Given the description of an element on the screen output the (x, y) to click on. 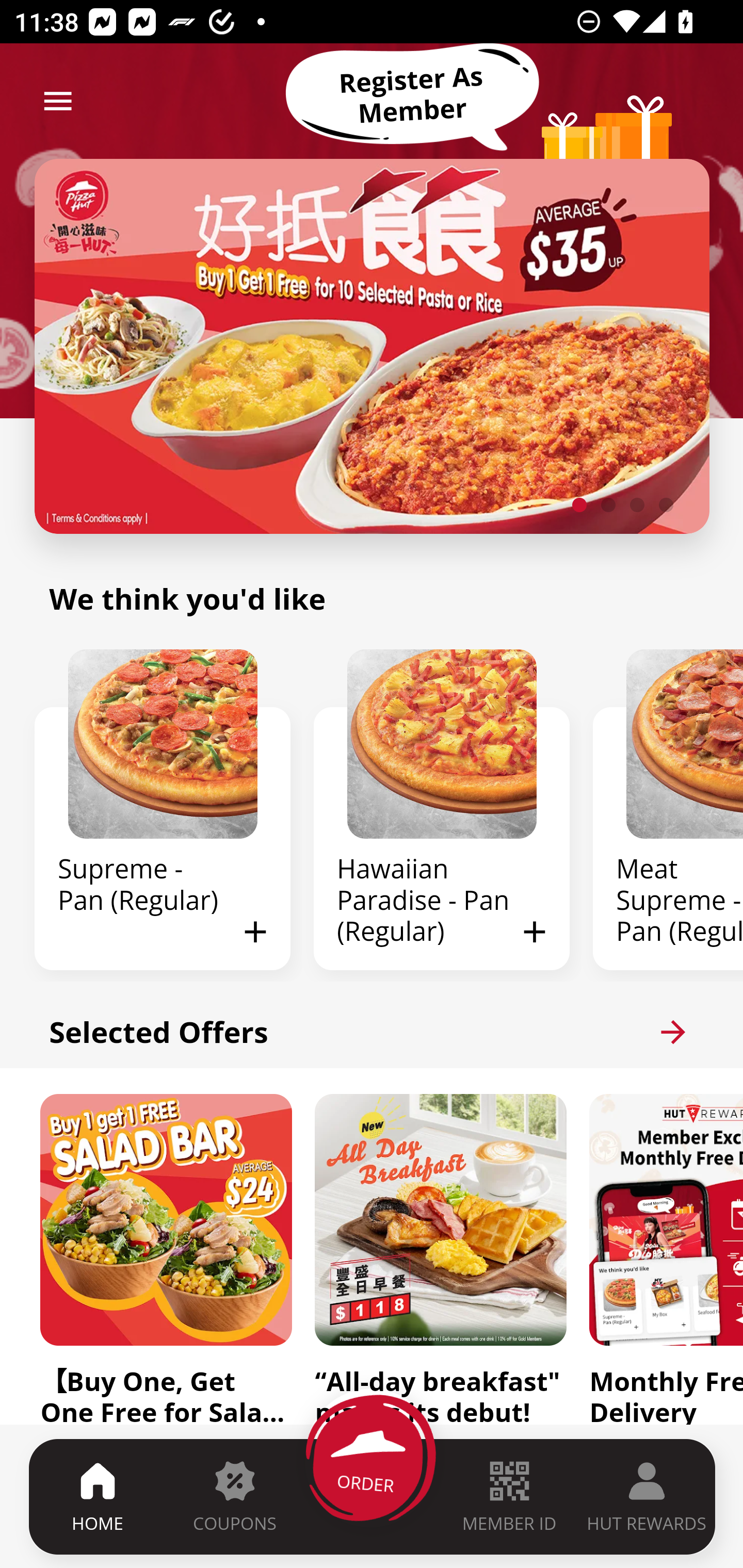
Register As Member (411, 95)
menu (58, 100)
arrow_forward (672, 1031)
HOME (97, 1496)
COUPONS (234, 1496)
ORDER (372, 1496)
MEMBER ID (509, 1496)
HUT REWARDS (647, 1496)
